Given the description of an element on the screen output the (x, y) to click on. 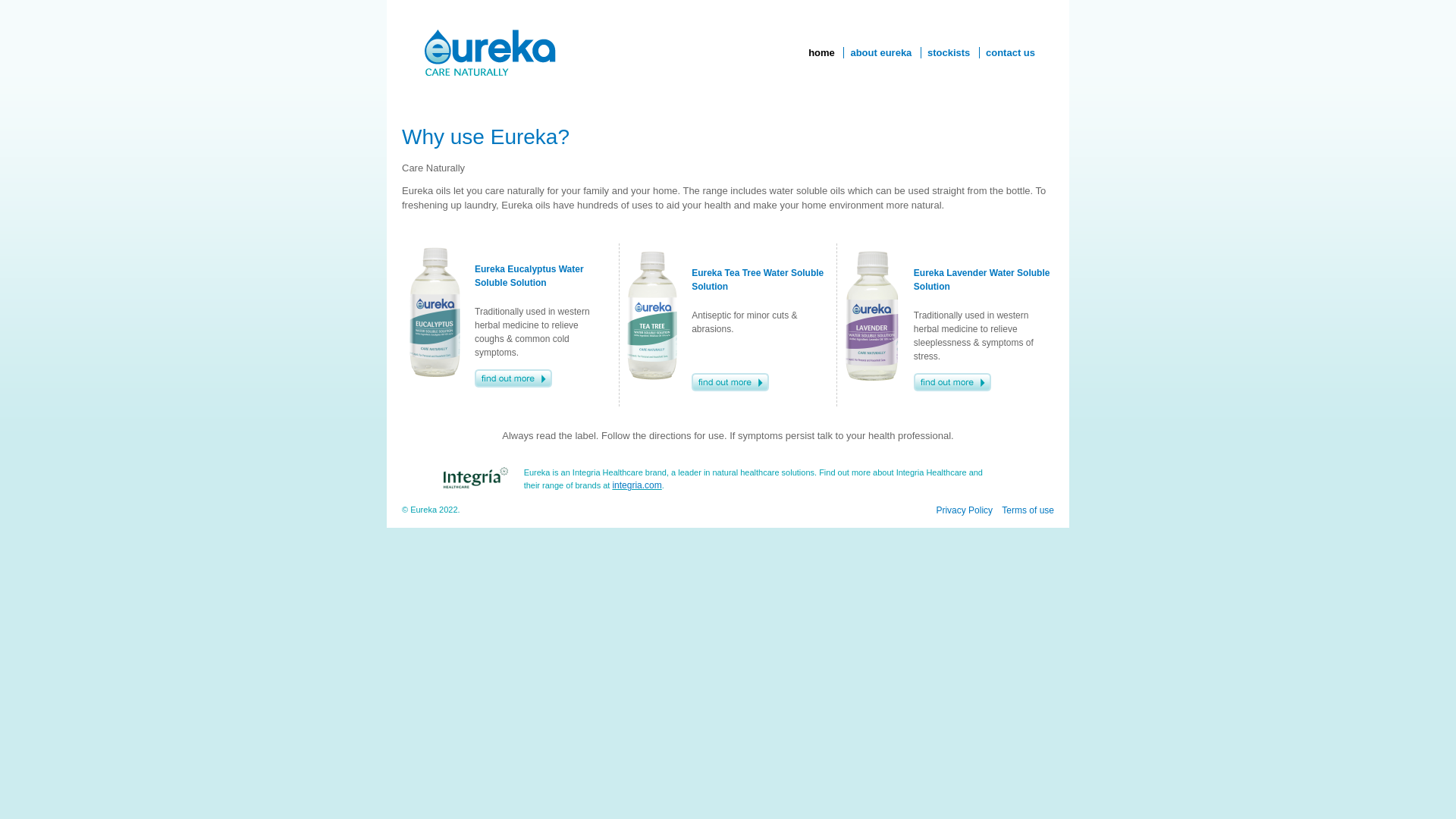
about eureka Element type: text (880, 52)
Privacy Policy Element type: text (963, 510)
stockists Element type: text (948, 52)
contact us Element type: text (1010, 52)
home Element type: text (821, 52)
Terms of use Element type: text (1027, 510)
Eureka Eucalyptus Water Soluble Solution Element type: text (528, 275)
integria.com Element type: text (636, 485)
Eureka Tea Tree Water Soluble Solution Element type: text (757, 278)
Eureka Lavender Water Soluble Solution Element type: text (981, 278)
